Given the description of an element on the screen output the (x, y) to click on. 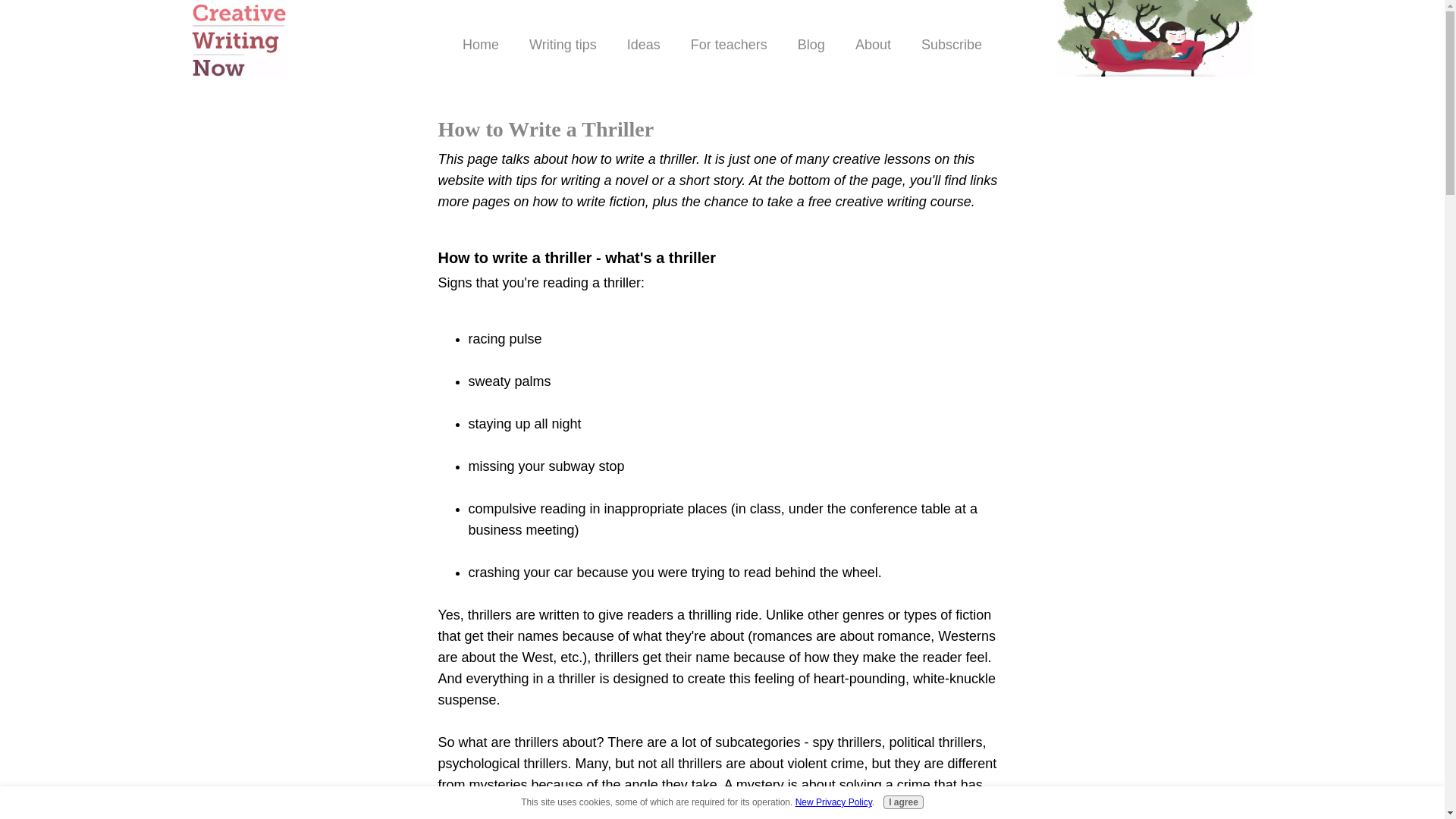
Subscribe (951, 44)
For teachers (729, 44)
I agree (903, 802)
Blog (811, 44)
About (872, 44)
New Privacy Policy (833, 801)
Home (479, 44)
